Given the description of an element on the screen output the (x, y) to click on. 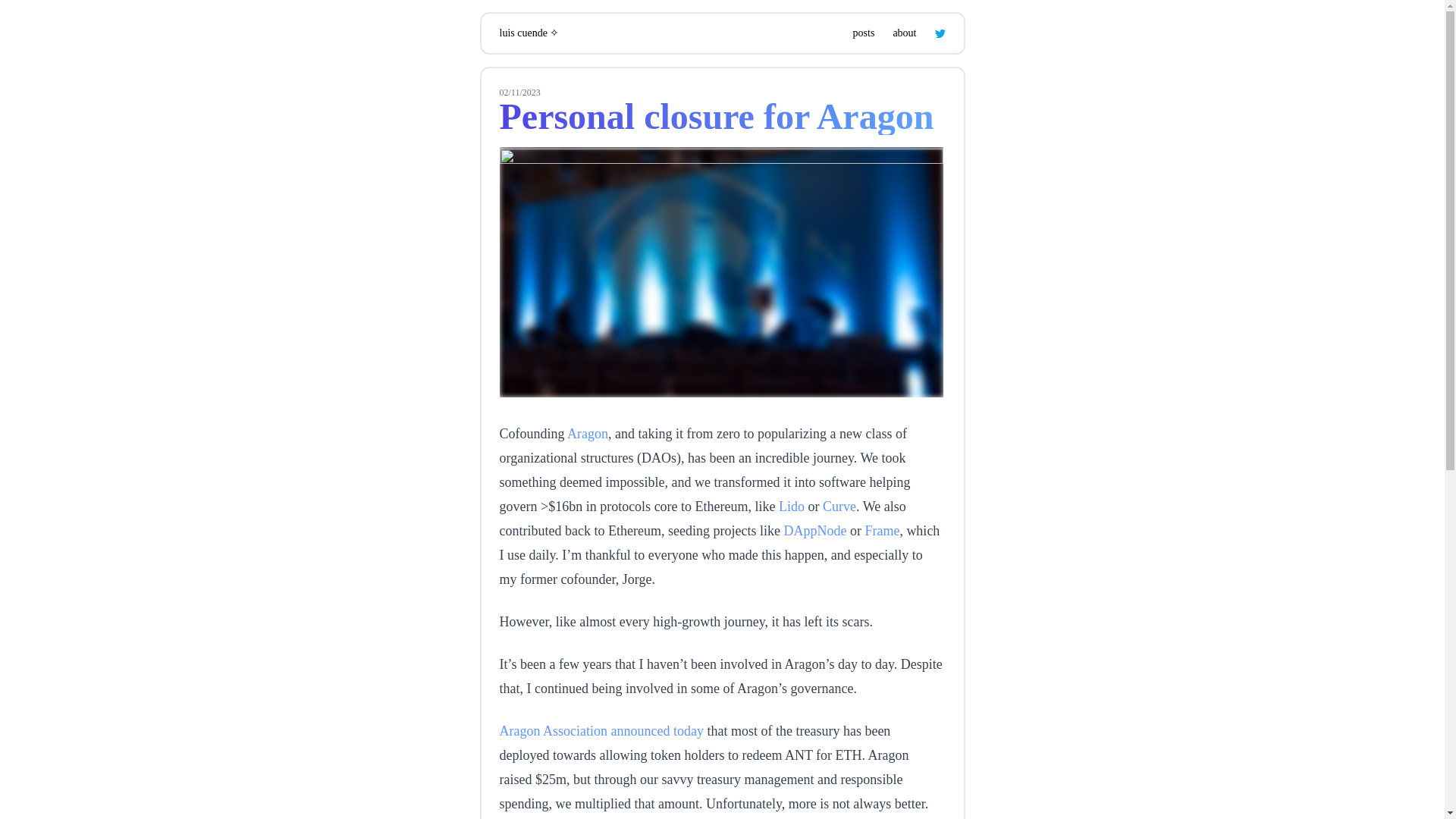
about (903, 32)
DAppNode (814, 530)
posts (864, 32)
Curve (839, 506)
Lido (791, 506)
Frame (881, 530)
Aragon (587, 433)
Aragon Association announced today (601, 730)
